Given the description of an element on the screen output the (x, y) to click on. 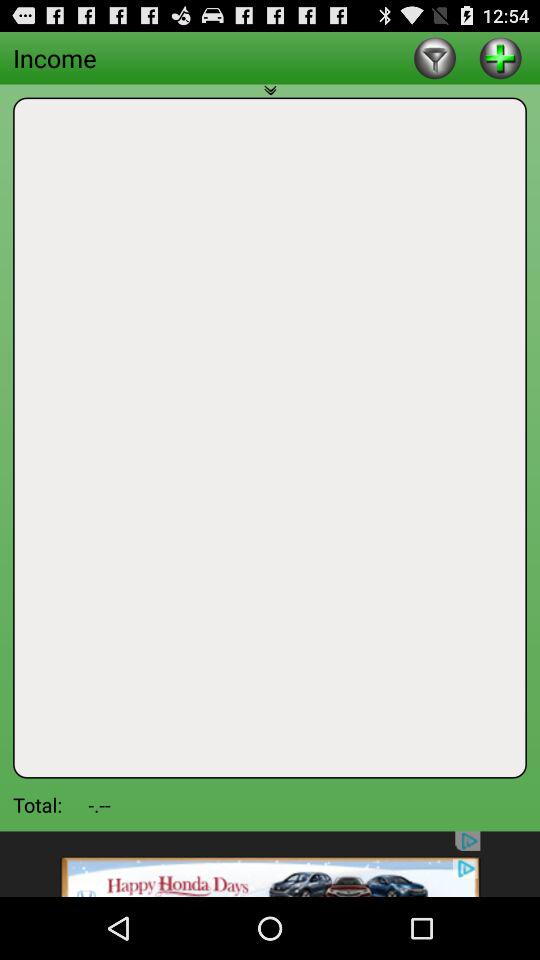
share the image (270, 864)
